Given the description of an element on the screen output the (x, y) to click on. 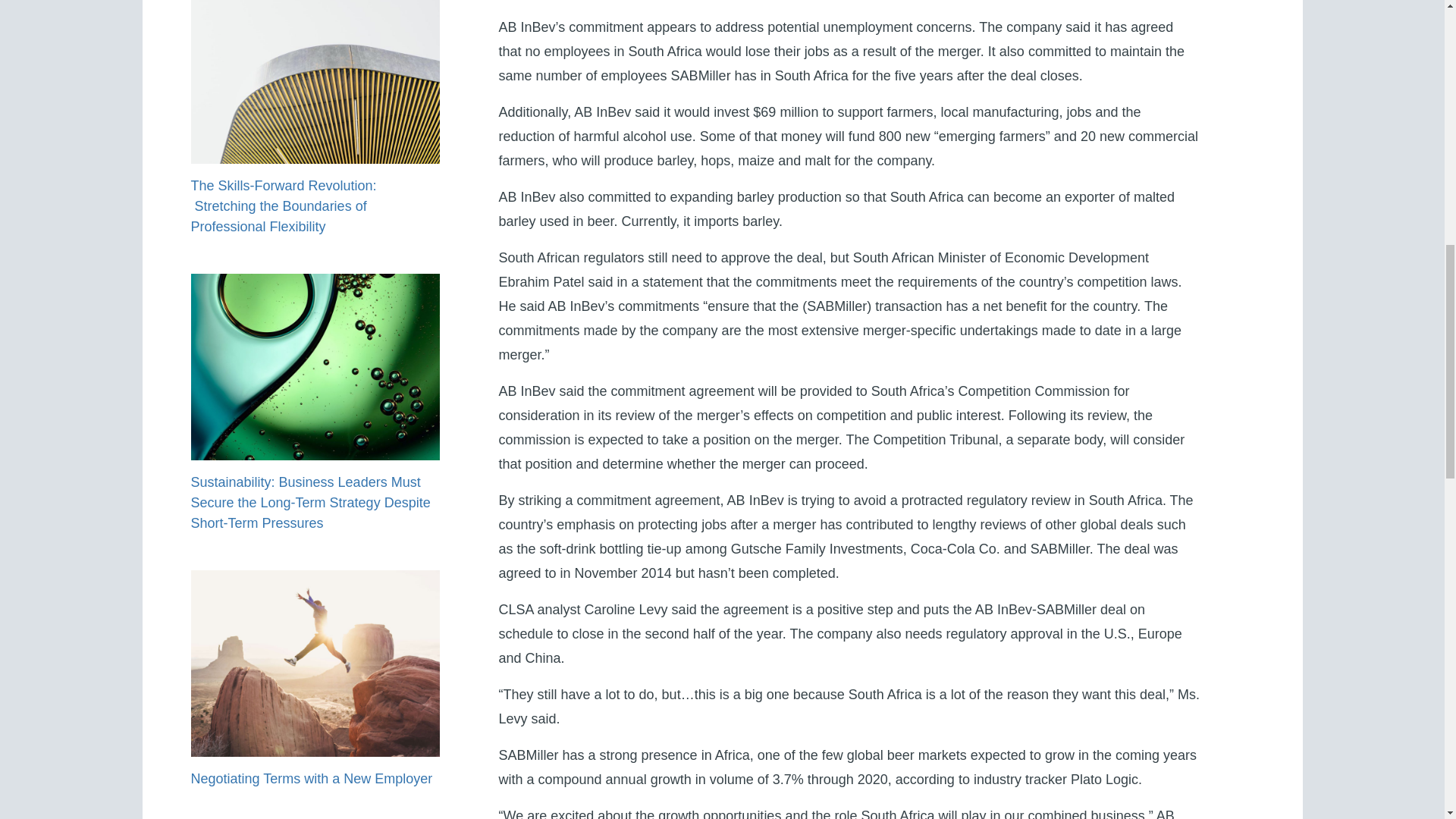
Negotiating Terms with a New Employer (311, 778)
